Given the description of an element on the screen output the (x, y) to click on. 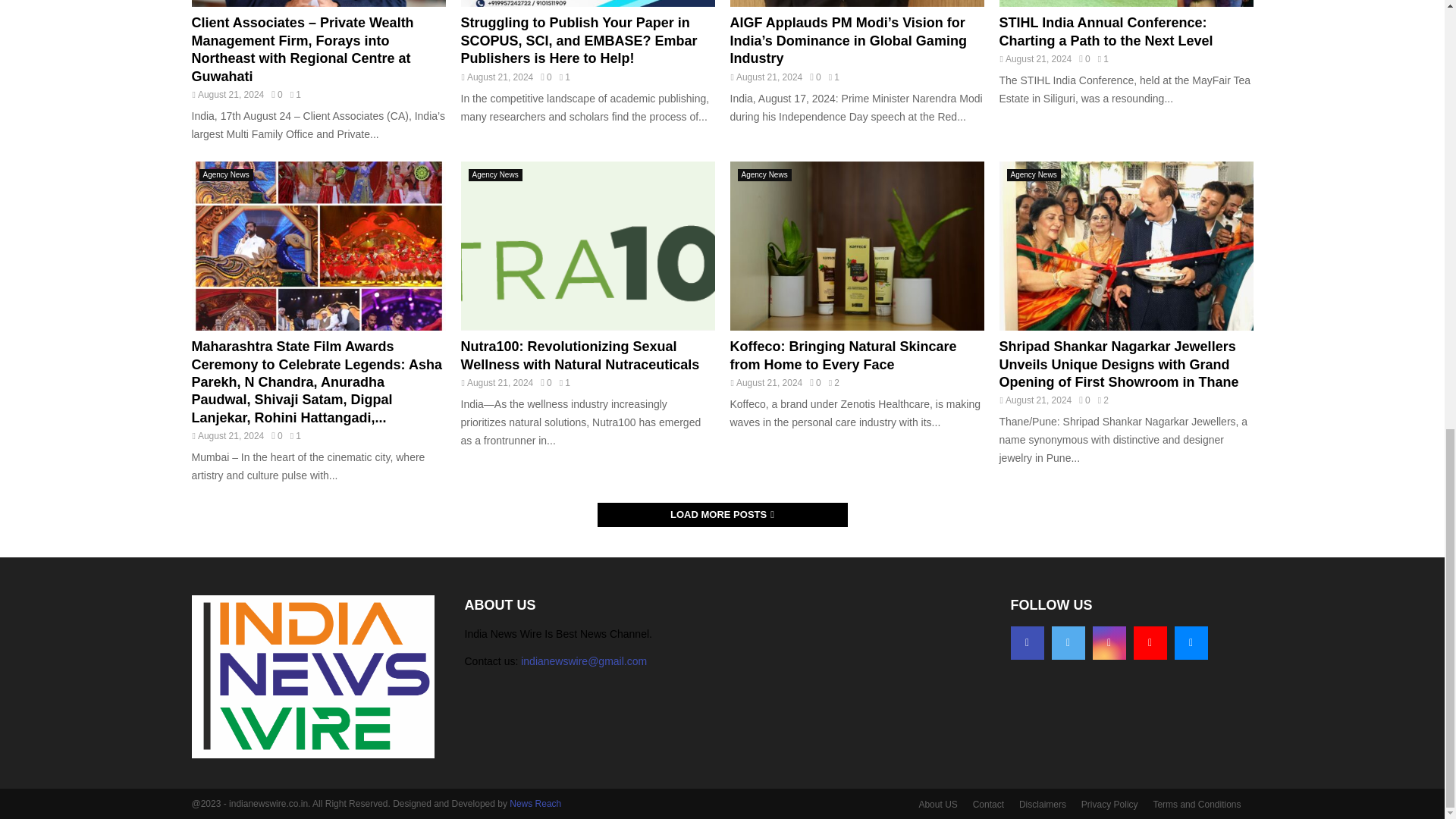
0 (276, 94)
0 (815, 77)
0 (545, 77)
